Given the description of an element on the screen output the (x, y) to click on. 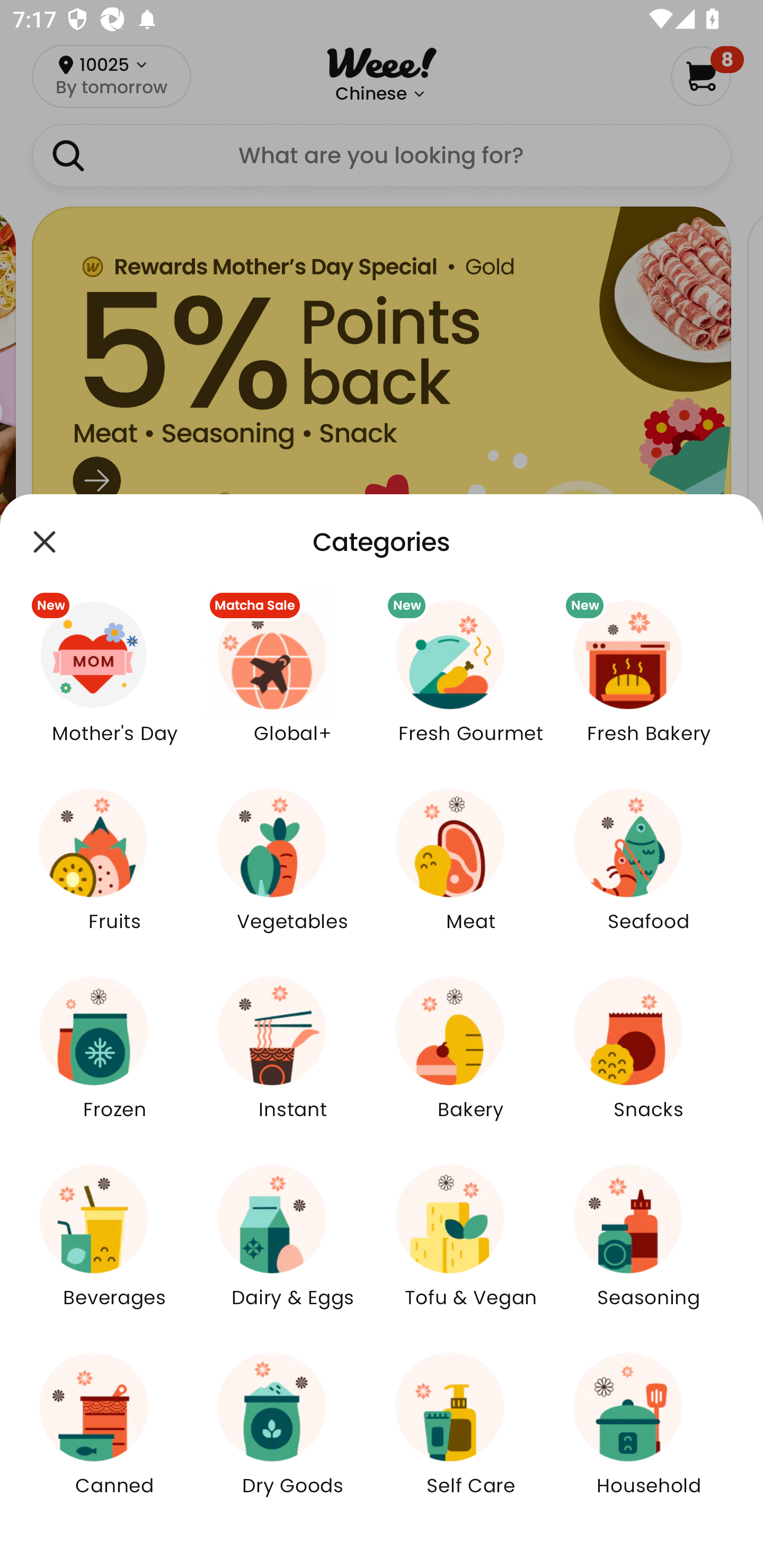
New Mother's Day (114, 683)
Matcha Sale Global+ (292, 683)
New Fresh Gourmet (470, 683)
New Fresh Bakery (648, 683)
Fruits (114, 871)
Vegetables (292, 871)
Meat (470, 871)
Seafood (648, 871)
Frozen (114, 1059)
Instant (292, 1059)
Bakery (470, 1059)
Snacks (648, 1059)
Beverages (114, 1248)
Dairy & Eggs (292, 1248)
Tofu & Vegan (470, 1248)
Seasoning (648, 1248)
Canned (114, 1436)
Dry Goods (292, 1436)
Self Care (470, 1436)
Household (648, 1436)
